Given the description of an element on the screen output the (x, y) to click on. 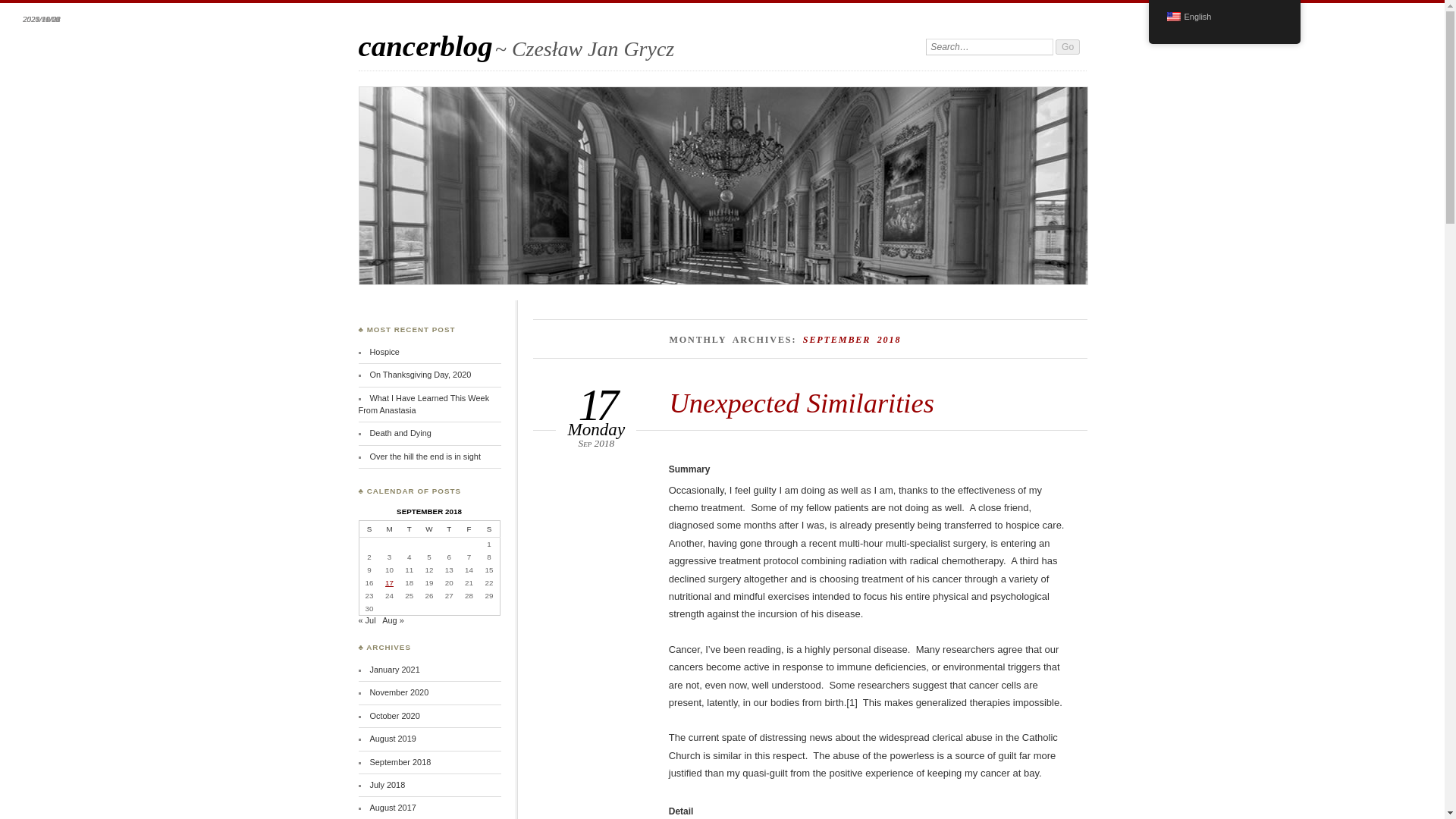
cancerblog (425, 45)
On Thanksgiving Day, 2020 (419, 374)
Hospice (383, 351)
Sunday (368, 528)
Death and Dying (399, 432)
What I Have Learned This Week From Anastasia (423, 403)
September 2018 (399, 761)
17 (389, 582)
October 2020 (394, 715)
August 2017 (391, 807)
January 2021 (394, 669)
Over the hill the end is in sight (424, 456)
cancerblog (425, 45)
English (1172, 16)
